Given the description of an element on the screen output the (x, y) to click on. 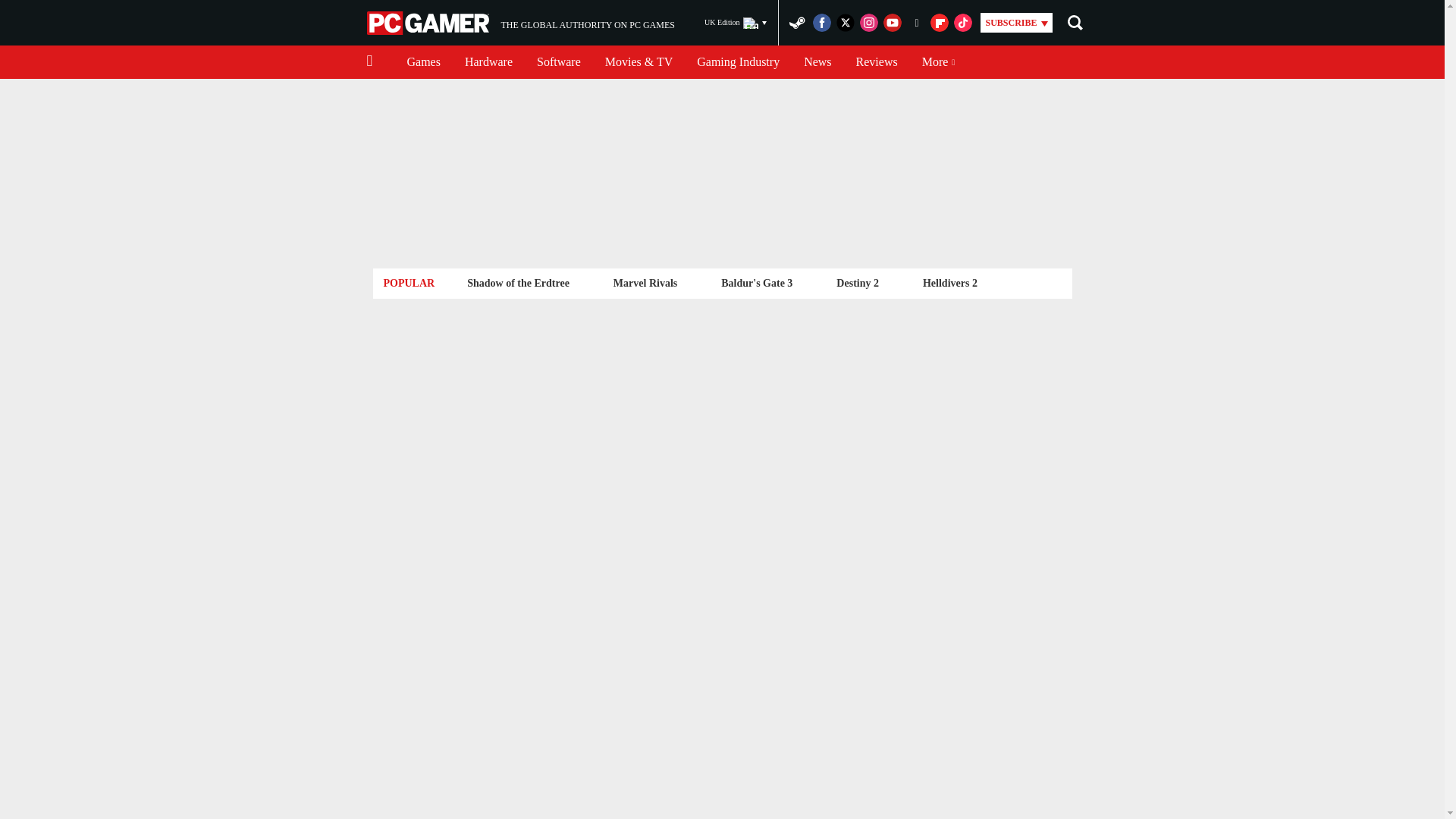
UK Edition (735, 22)
Gaming Industry (738, 61)
PC Gamer (429, 22)
News (520, 22)
Marvel Rivals (817, 61)
Hardware (645, 282)
Reviews (488, 61)
Software (877, 61)
Games (558, 61)
Shadow of the Erdtree (422, 61)
